Given the description of an element on the screen output the (x, y) to click on. 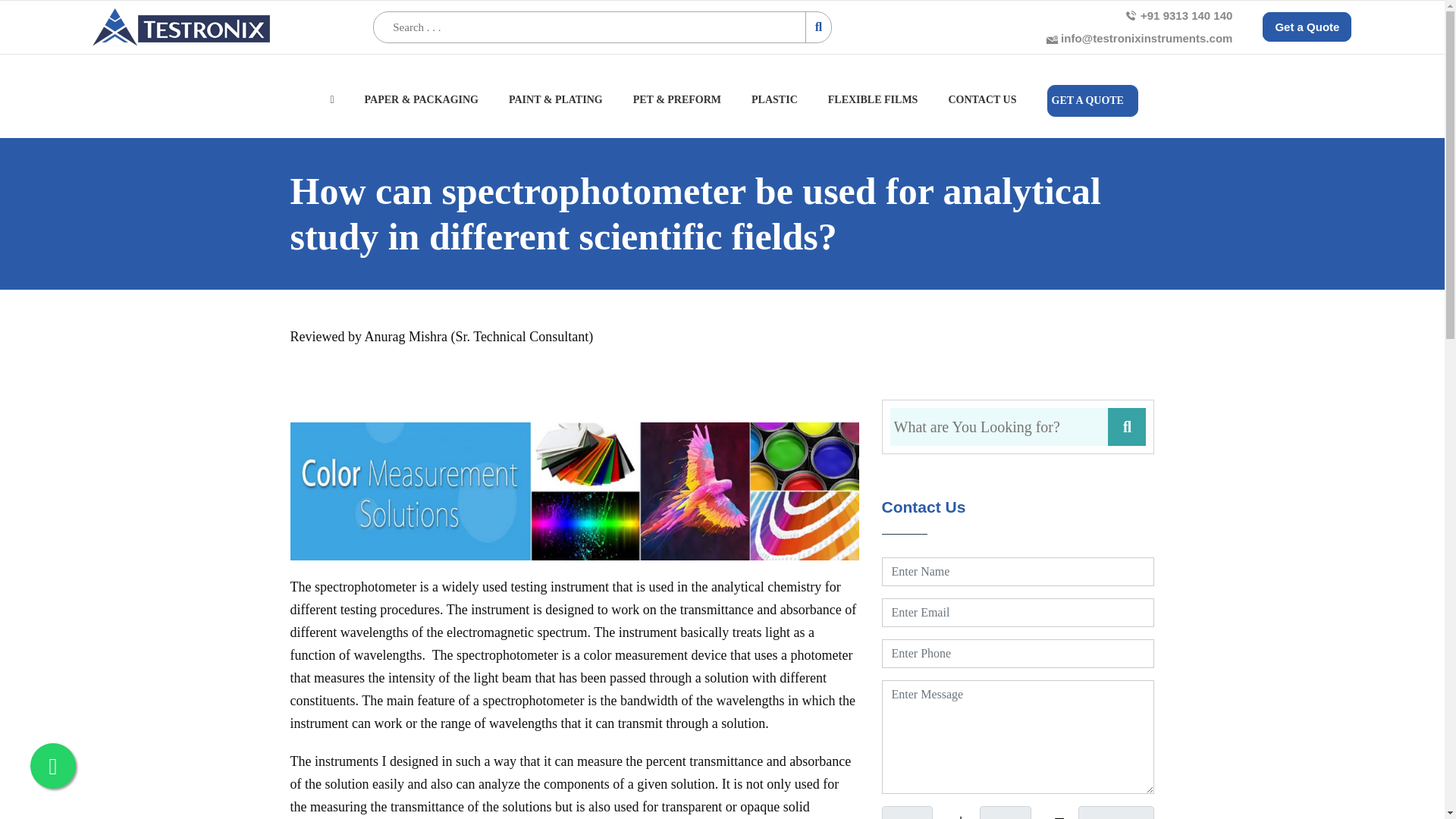
8 (1004, 812)
7 (905, 812)
FLEXIBLE FILMS (870, 107)
GET A QUOTE (1090, 101)
PLASTIC (771, 107)
CONTACT US (980, 107)
Get a Quote (1306, 26)
